Given the description of an element on the screen output the (x, y) to click on. 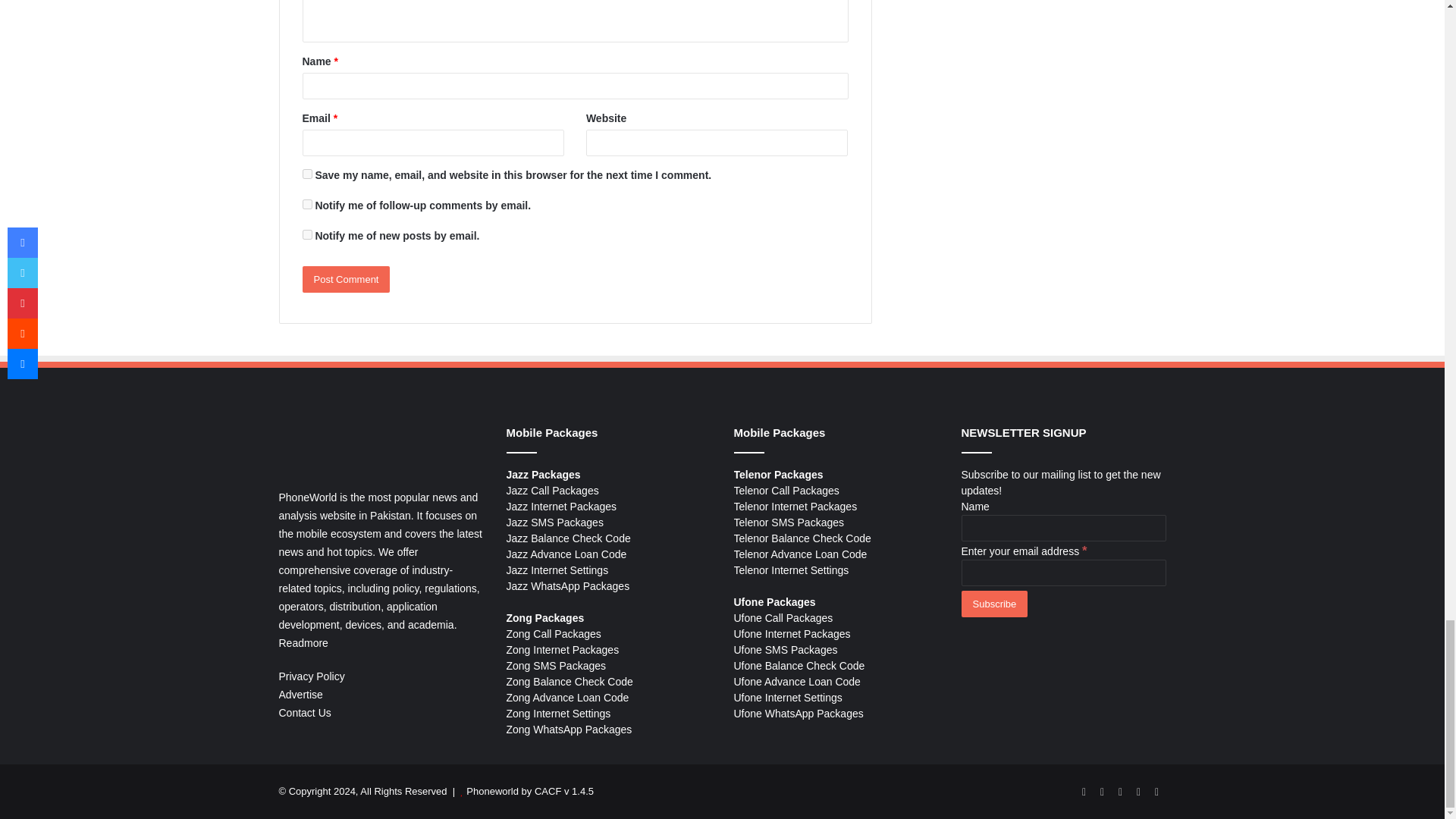
subscribe (306, 204)
yes (306, 173)
Subscribe (993, 603)
subscribe (306, 234)
Post Comment (345, 279)
